Given the description of an element on the screen output the (x, y) to click on. 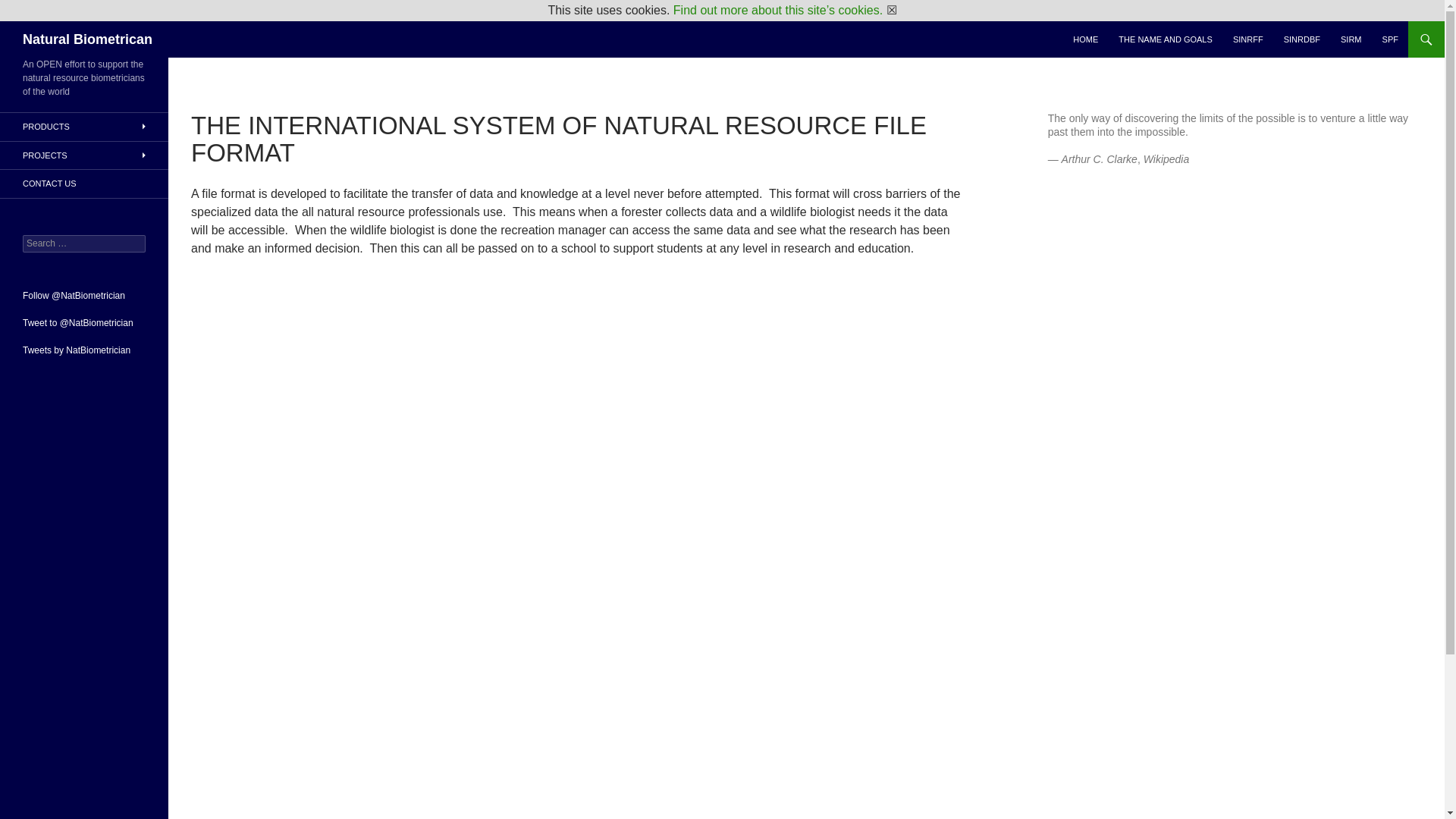
CONTACT US (84, 183)
Tweets by NatBiometrician (77, 348)
Natural Biometrican (87, 39)
PRODUCTS (84, 126)
SIRM (1351, 39)
Search (30, 8)
SINRDBF (1302, 39)
PROJECTS (84, 154)
HOME (1085, 39)
SINRFF (1248, 39)
SPF (1390, 39)
THE NAME AND GOALS (1165, 39)
